Given the description of an element on the screen output the (x, y) to click on. 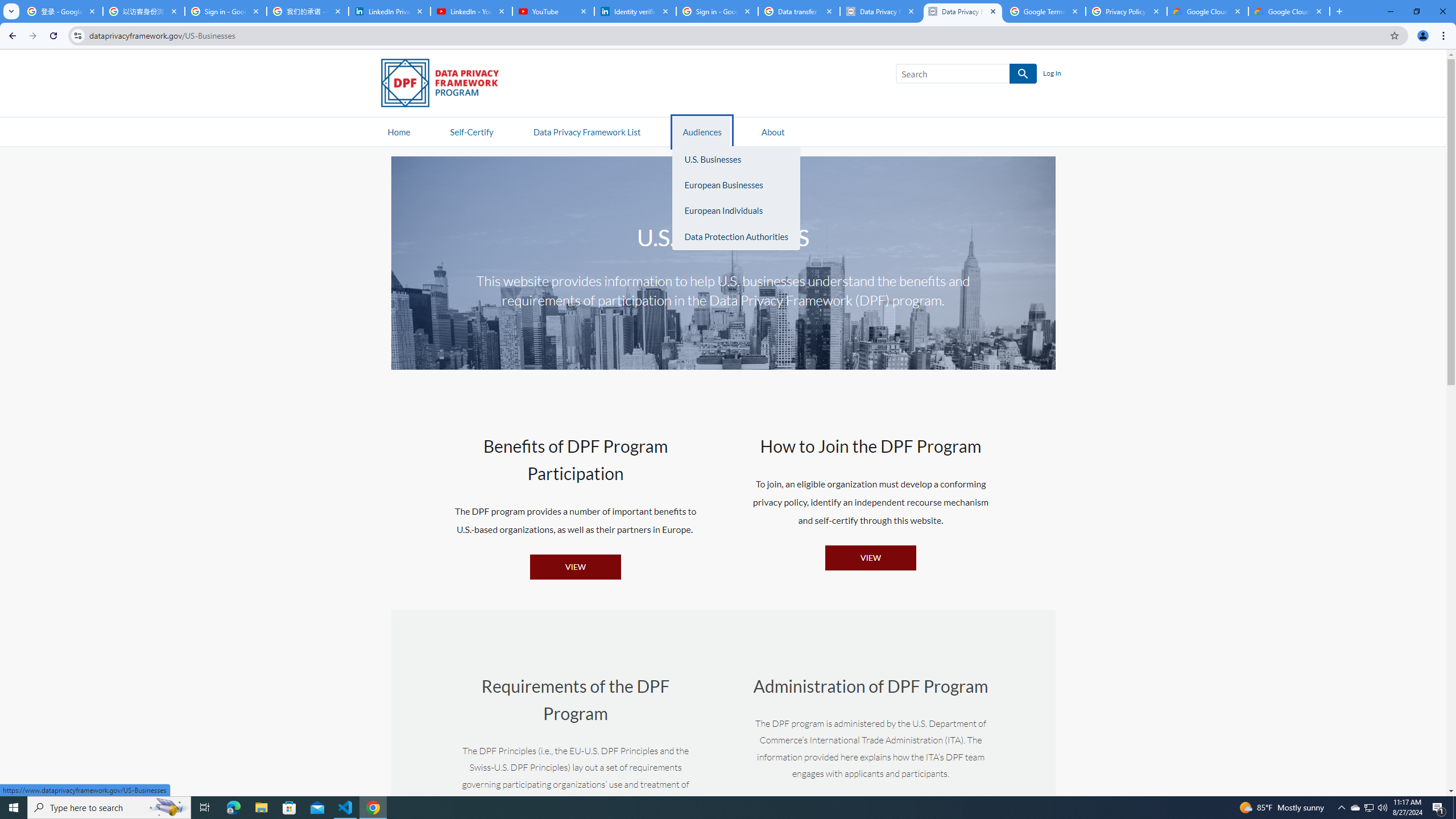
European Businesses (735, 184)
YouTube (552, 11)
Sign in - Google Accounts (225, 11)
LinkedIn Privacy Policy (389, 11)
Sign in - Google Accounts (716, 11)
Search SEARCH (965, 75)
LinkedIn - YouTube (470, 11)
